Given the description of an element on the screen output the (x, y) to click on. 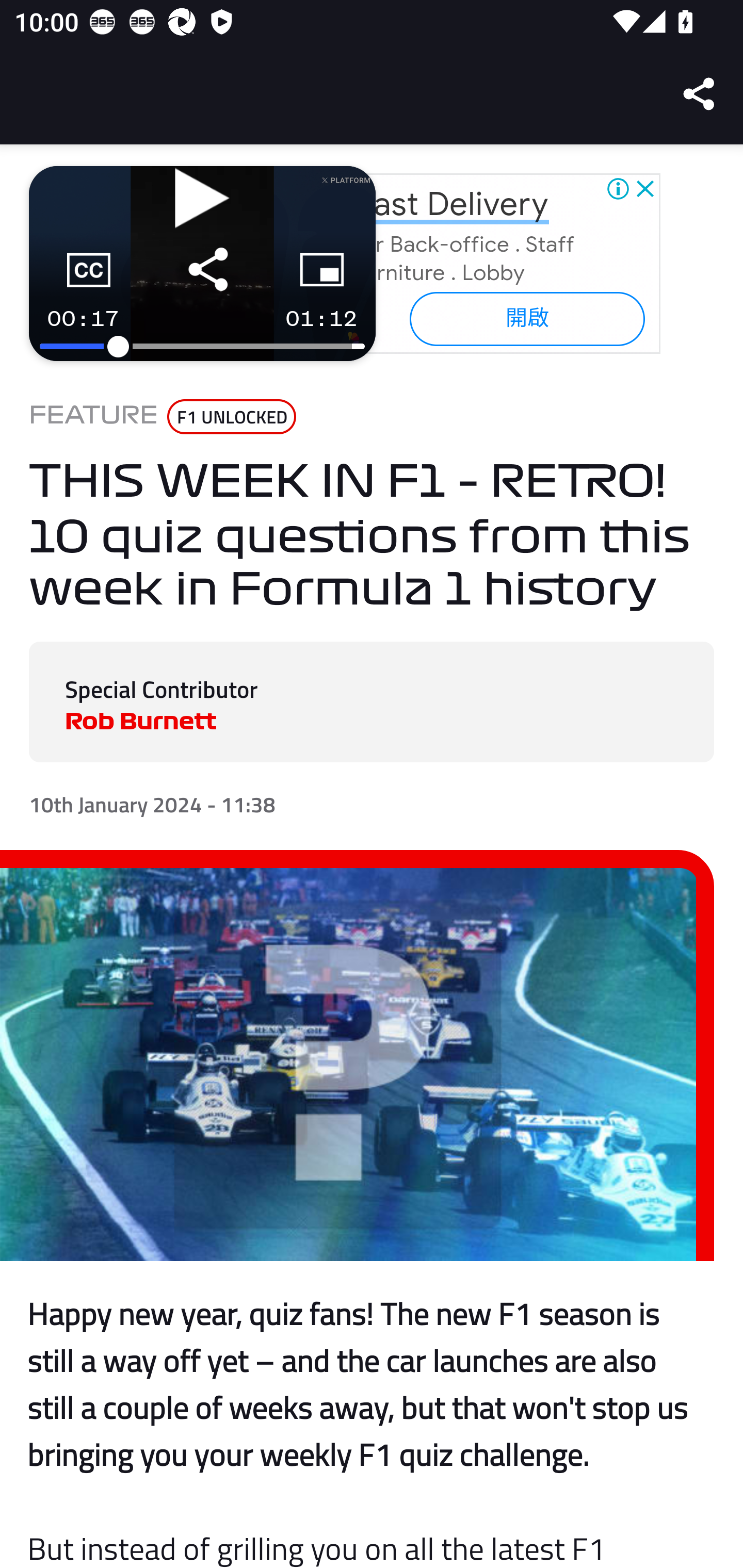
Share (699, 93)
開啟 (526, 318)
